Given the description of an element on the screen output the (x, y) to click on. 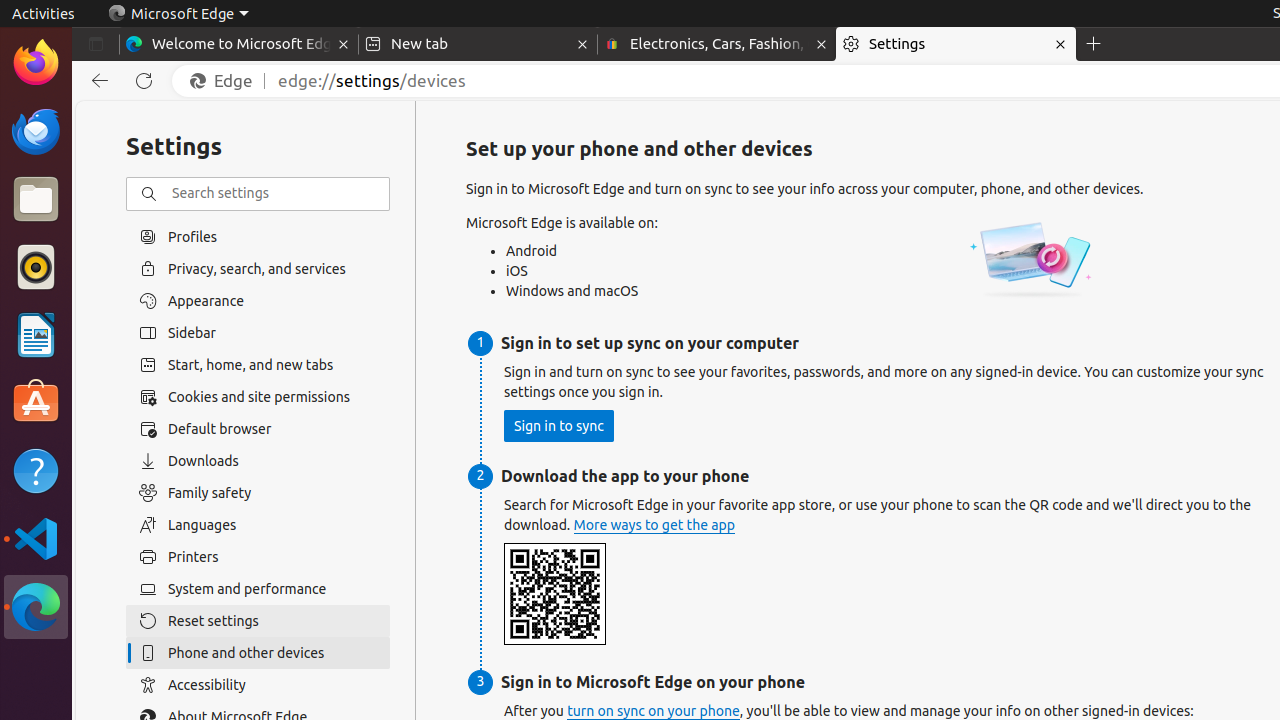
Help Element type: push-button (36, 470)
Profiles Element type: tree-item (258, 236)
turn on sync on your phone Element type: link (653, 711)
Accessibility Element type: tree-item (258, 685)
Firefox Web Browser Element type: push-button (36, 63)
